Given the description of an element on the screen output the (x, y) to click on. 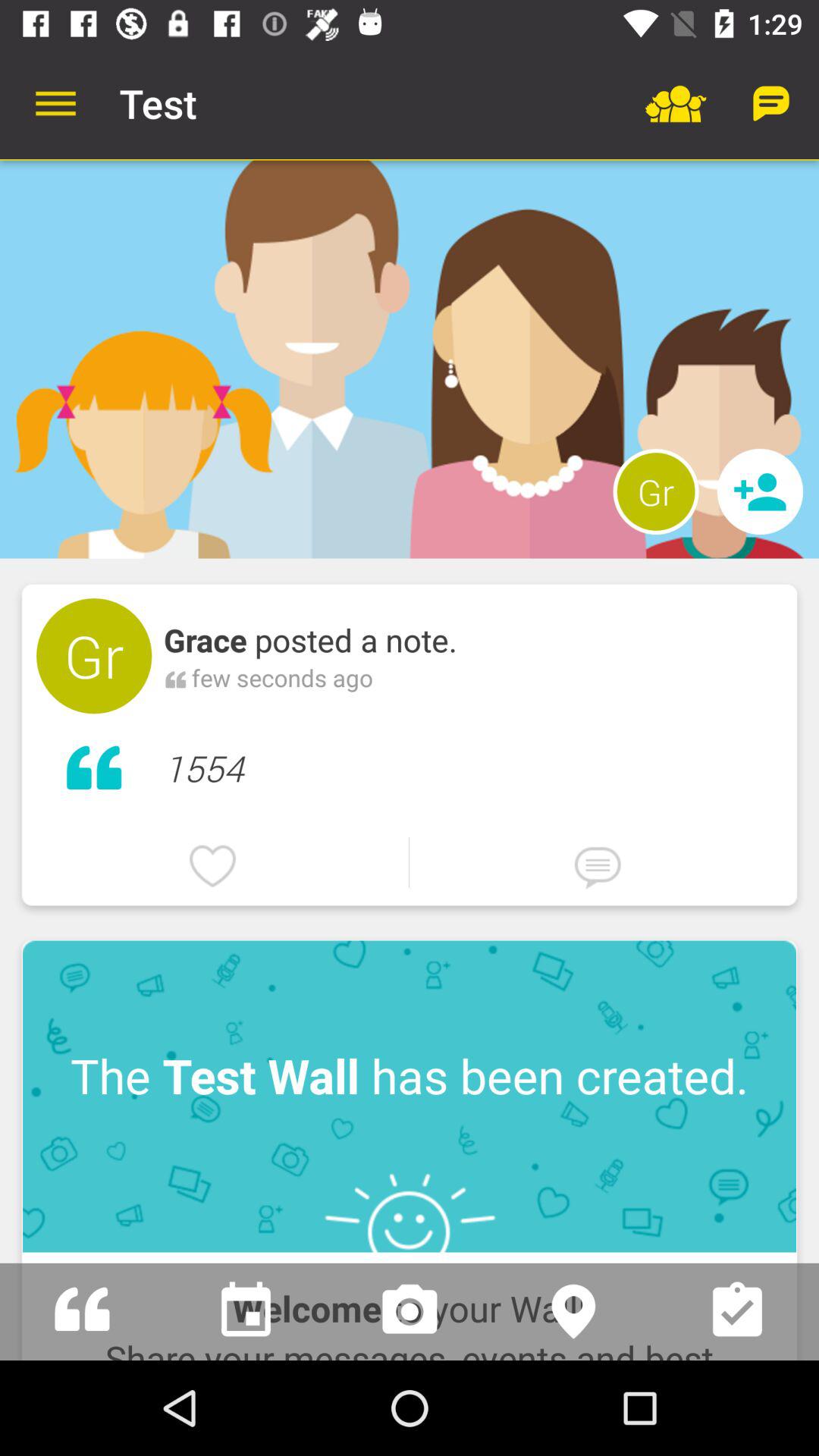
turn off the item below grace posted a item (282, 677)
